Given the description of an element on the screen output the (x, y) to click on. 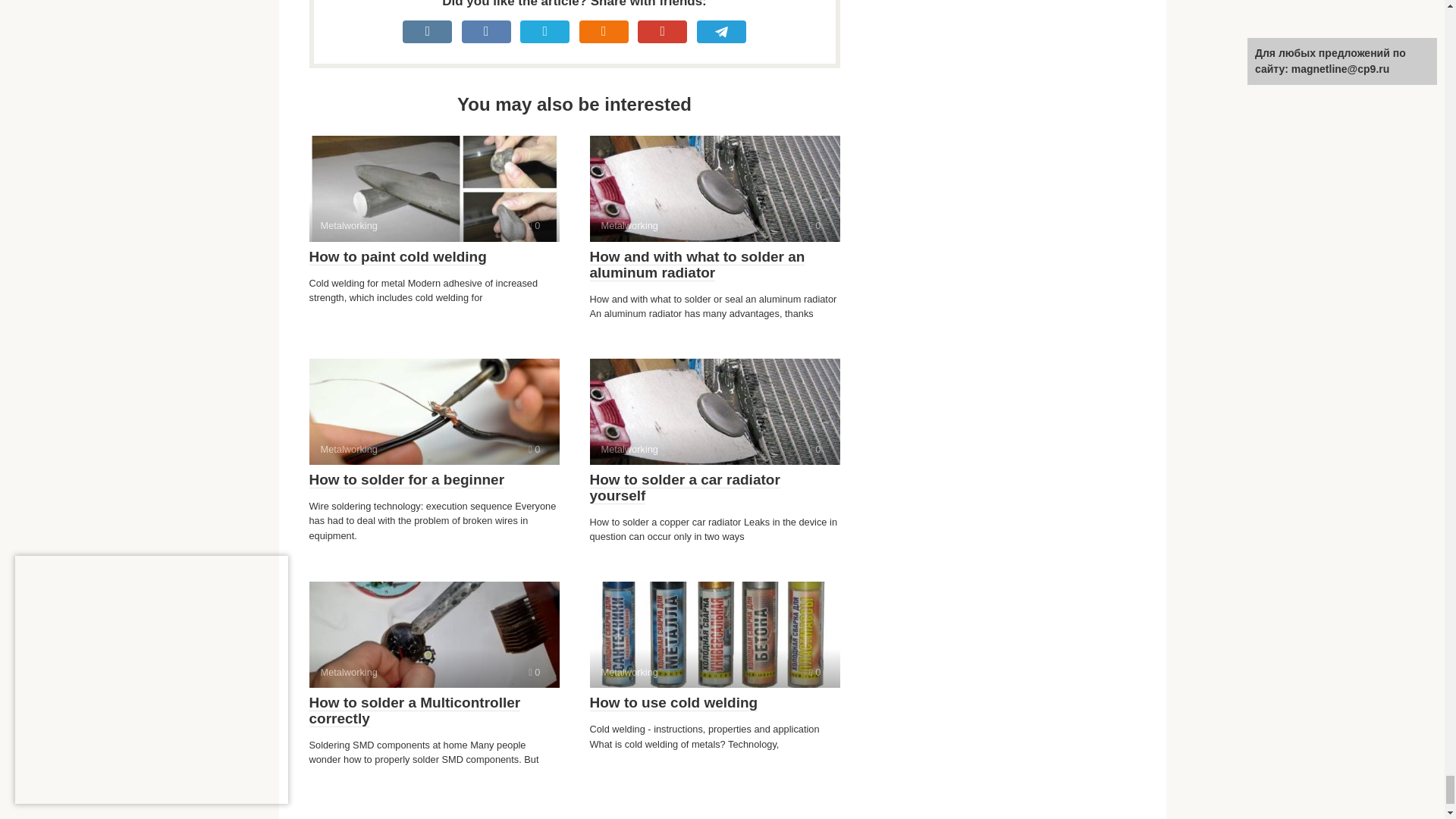
How to solder a car radiator yourself (684, 487)
How to solder for a beginner (406, 479)
How and with what to solder an aluminum radiator (714, 634)
How to paint cold welding (714, 188)
How to solder a Multicontroller correctly (697, 264)
Comments (714, 411)
Comments (433, 634)
Comments (397, 256)
Comments (414, 710)
How to use cold welding (534, 672)
